Given the description of an element on the screen output the (x, y) to click on. 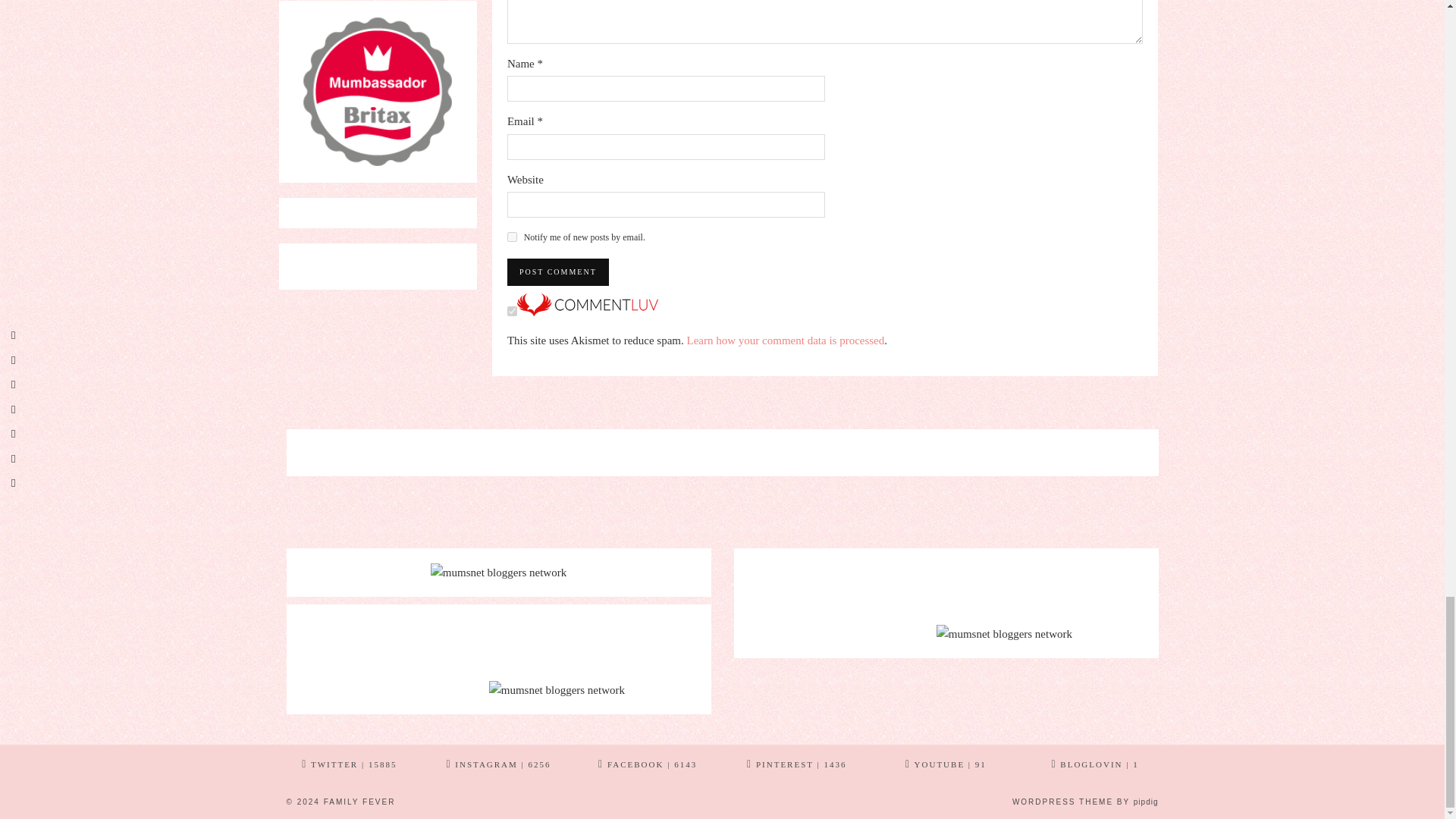
Post Comment (557, 271)
subscribe (511, 236)
on (511, 311)
